Given the description of an element on the screen output the (x, y) to click on. 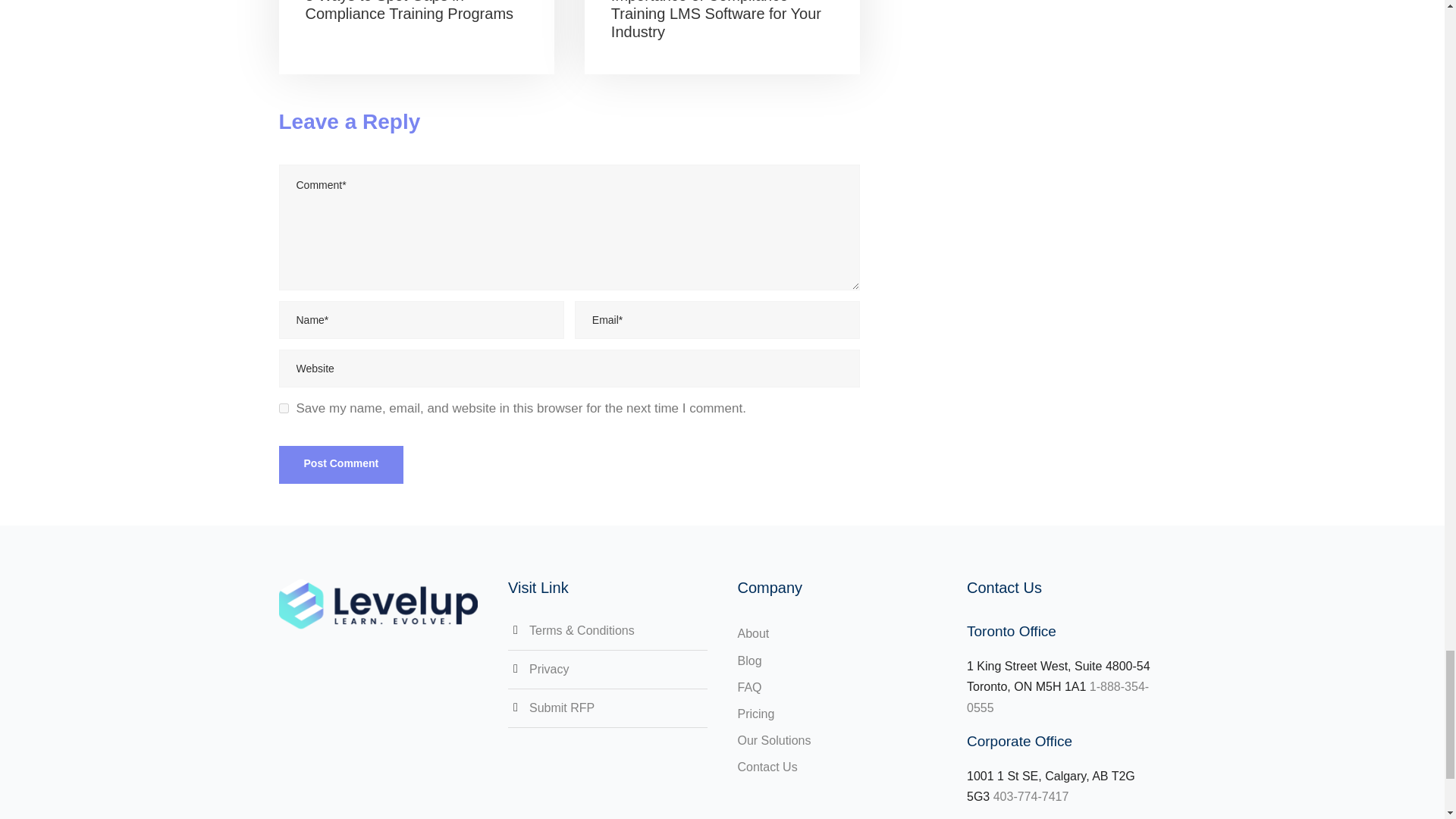
yes (283, 408)
Post Comment (341, 464)
